Given the description of an element on the screen output the (x, y) to click on. 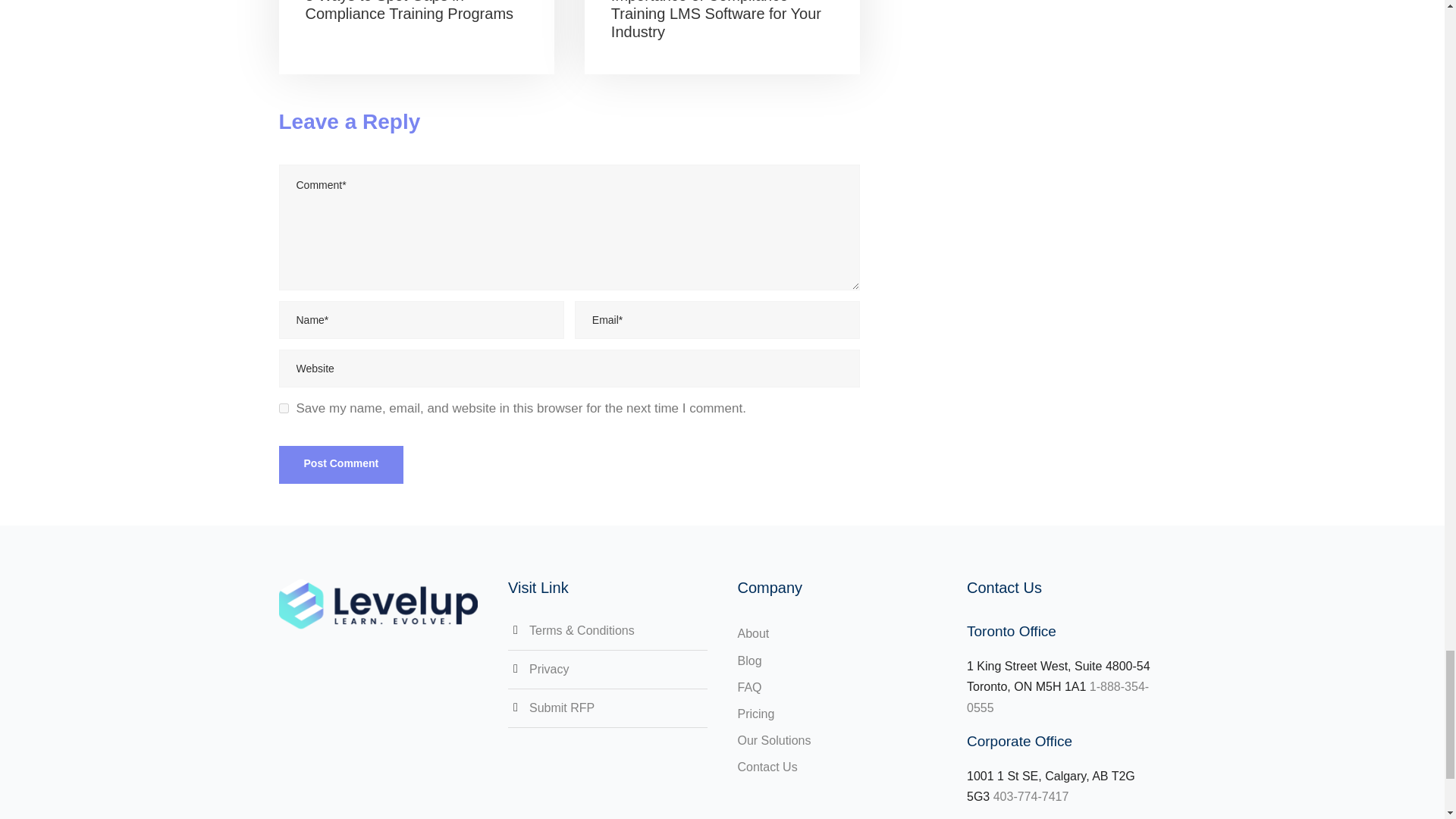
yes (283, 408)
Post Comment (341, 464)
